Given the description of an element on the screen output the (x, y) to click on. 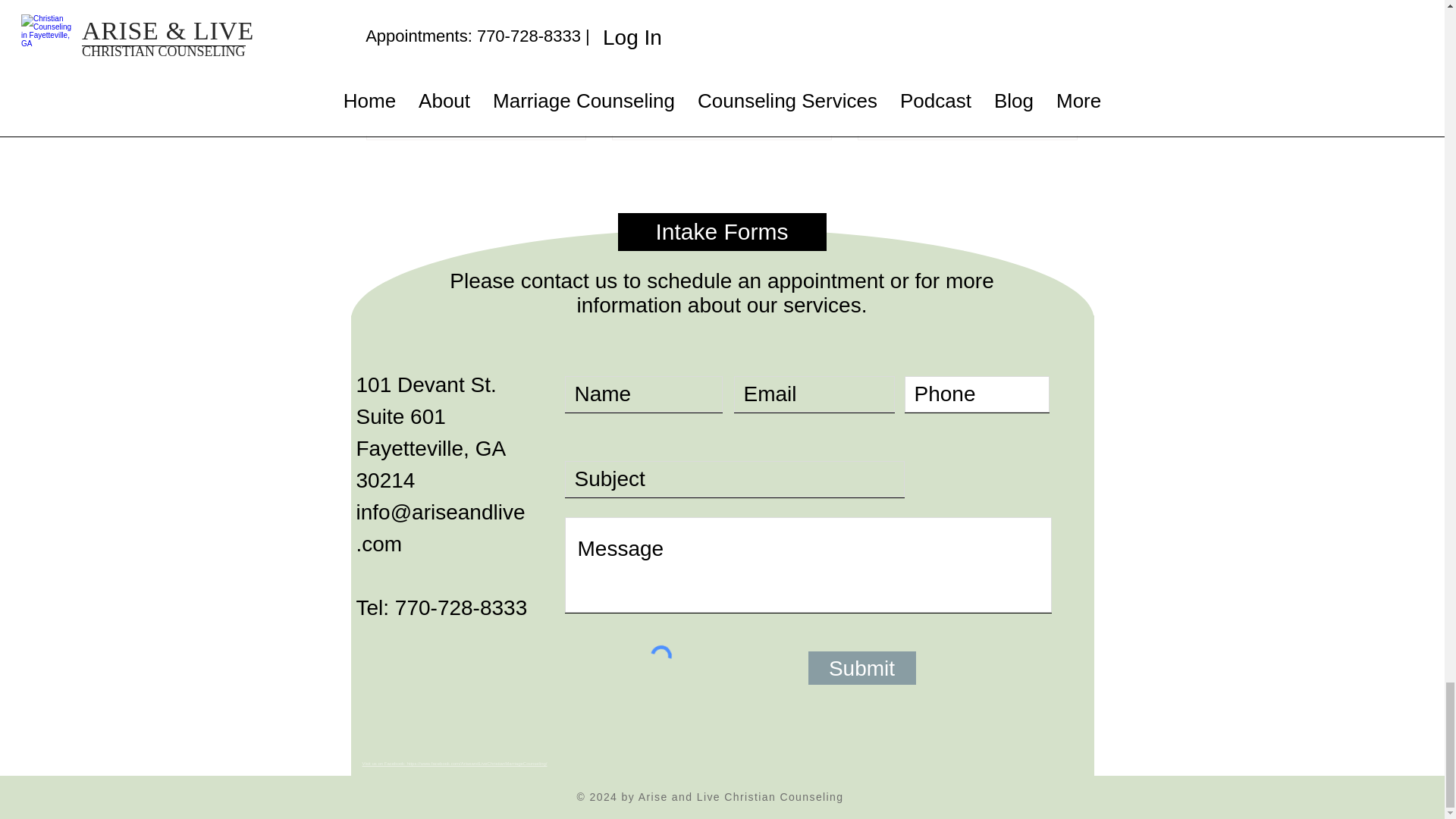
Submit (861, 667)
Intake Forms (721, 231)
The Male Brain: Understanding How He Thinks (721, 95)
